Given the description of an element on the screen output the (x, y) to click on. 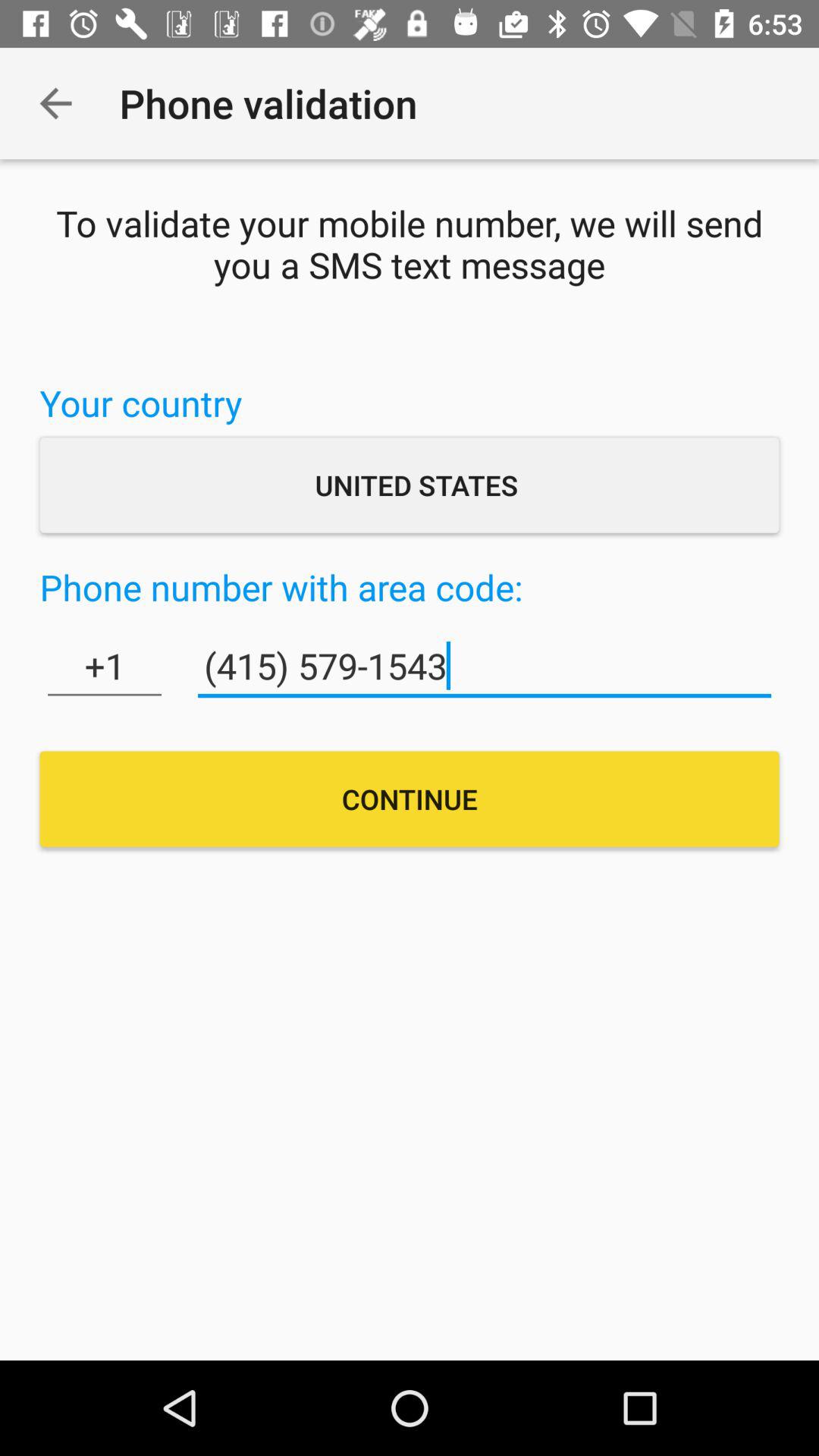
turn on item above to validate your (55, 103)
